Given the description of an element on the screen output the (x, y) to click on. 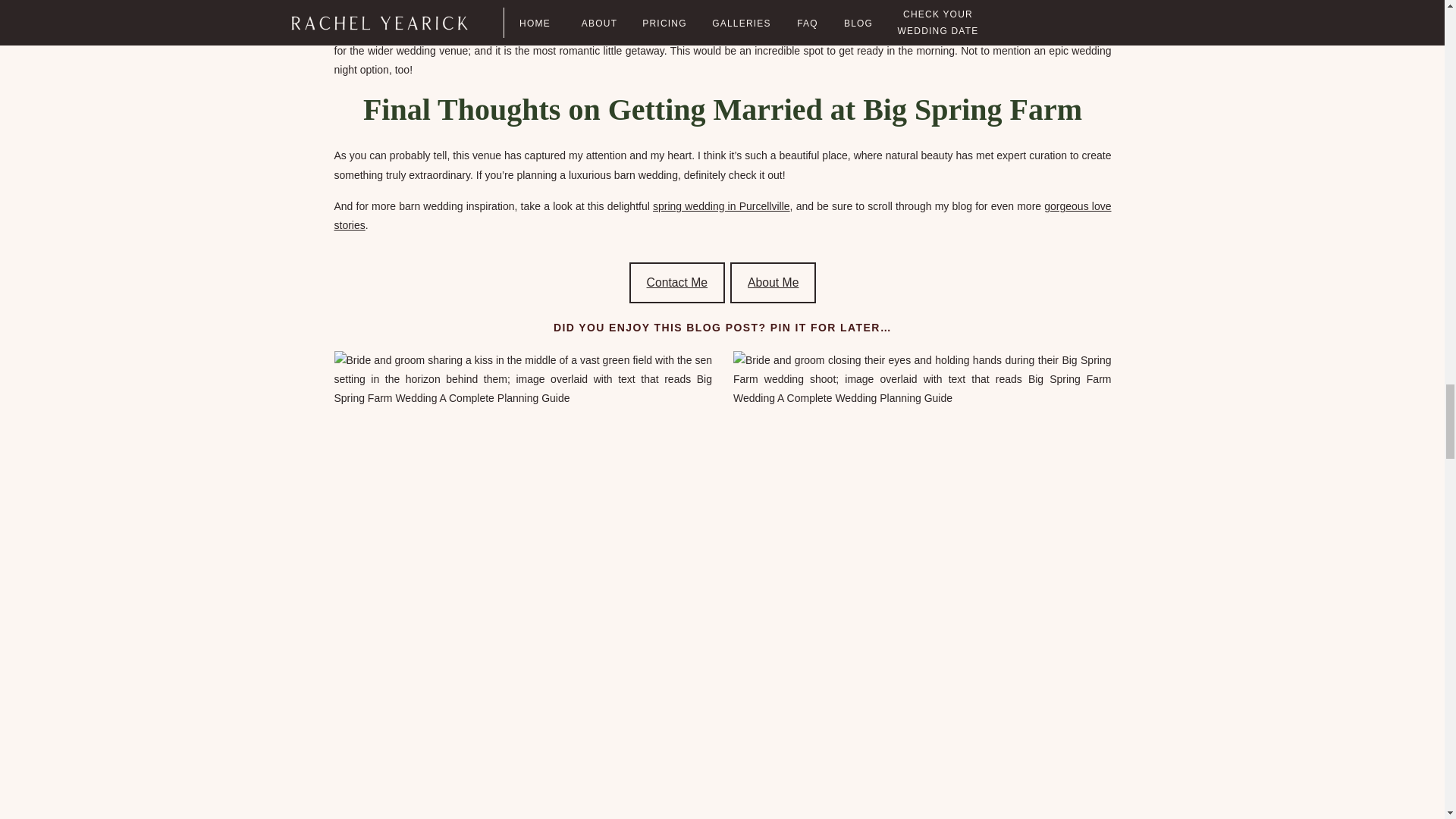
Midland House (793, 31)
About Me (772, 282)
Contact Me (676, 282)
gorgeous love stories (721, 214)
spring wedding in Purcellville (721, 205)
